Given the description of an element on the screen output the (x, y) to click on. 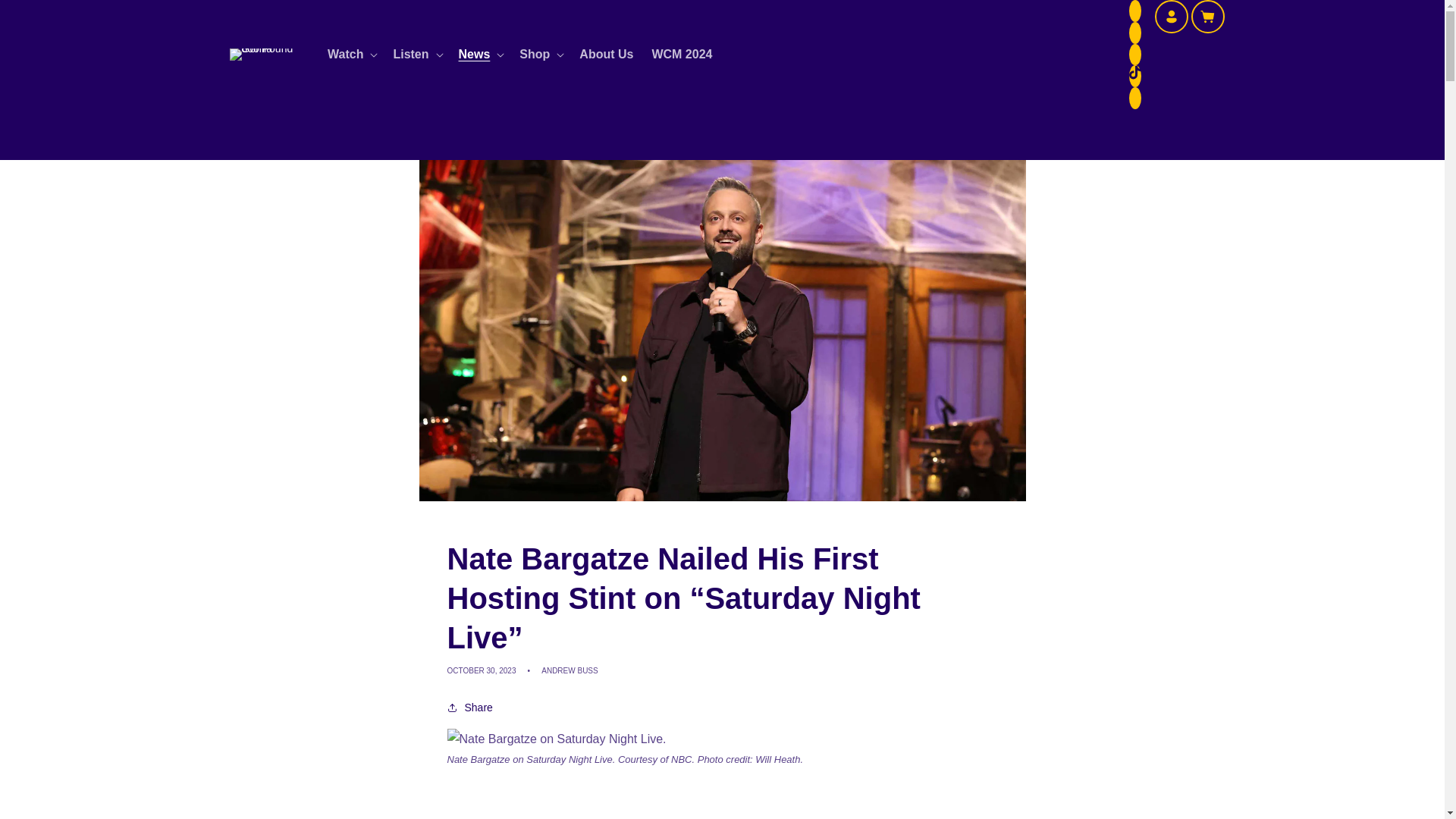
About Us (606, 54)
Log in (1171, 16)
Skip to content (45, 17)
WCM 2024 (681, 54)
